Given the description of an element on the screen output the (x, y) to click on. 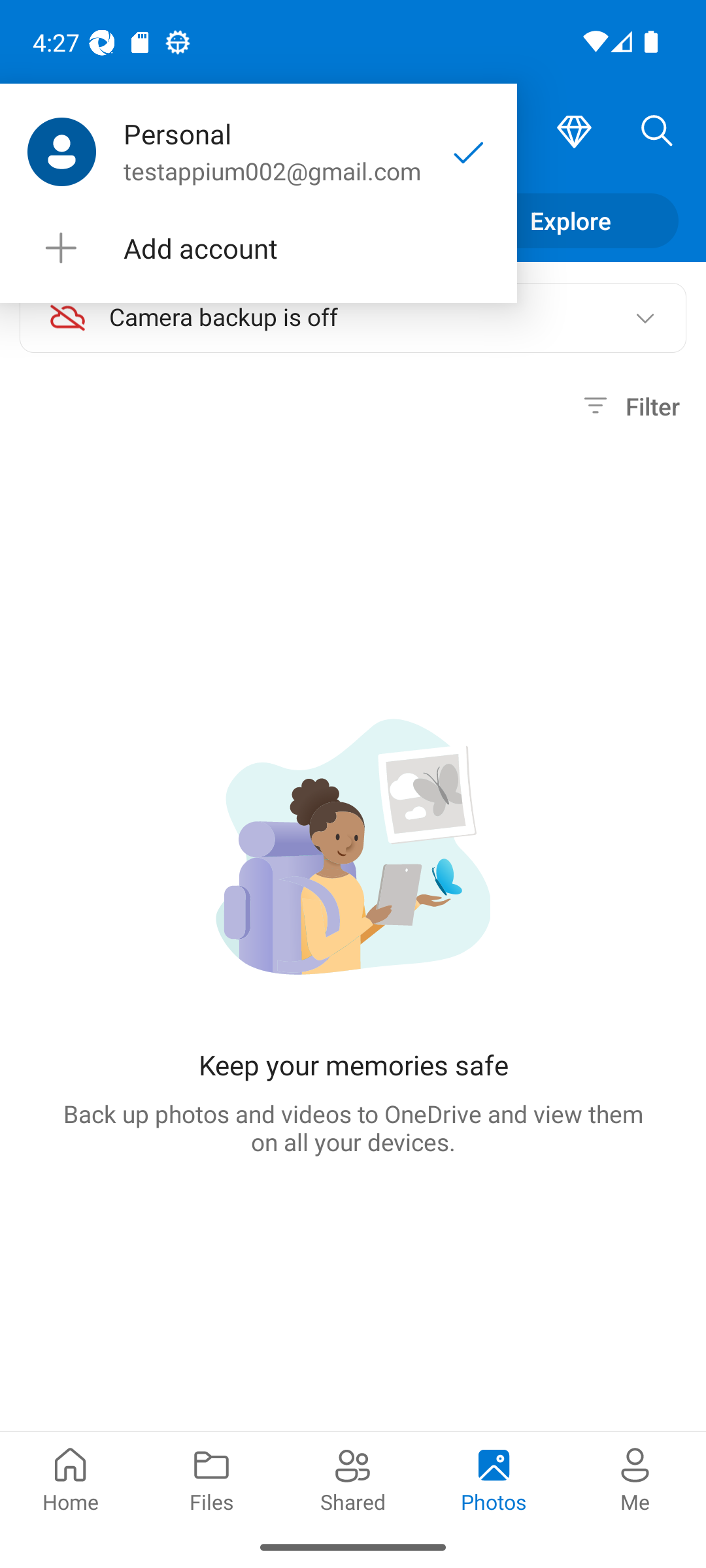
Personal testappium002@gmail.com Checked (258, 151)
Checked (468, 151)
Add account button Add account (258, 248)
